Given the description of an element on the screen output the (x, y) to click on. 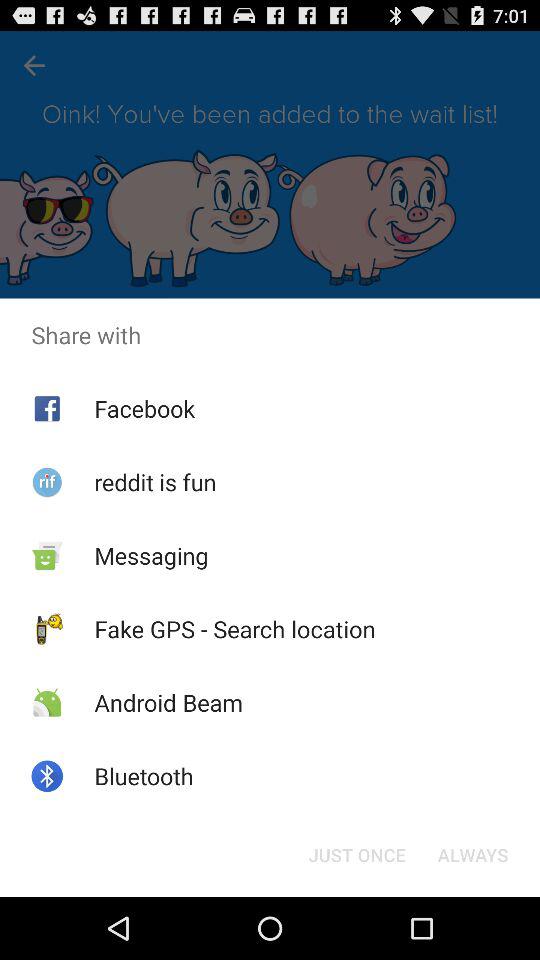
turn off just once item (356, 854)
